Given the description of an element on the screen output the (x, y) to click on. 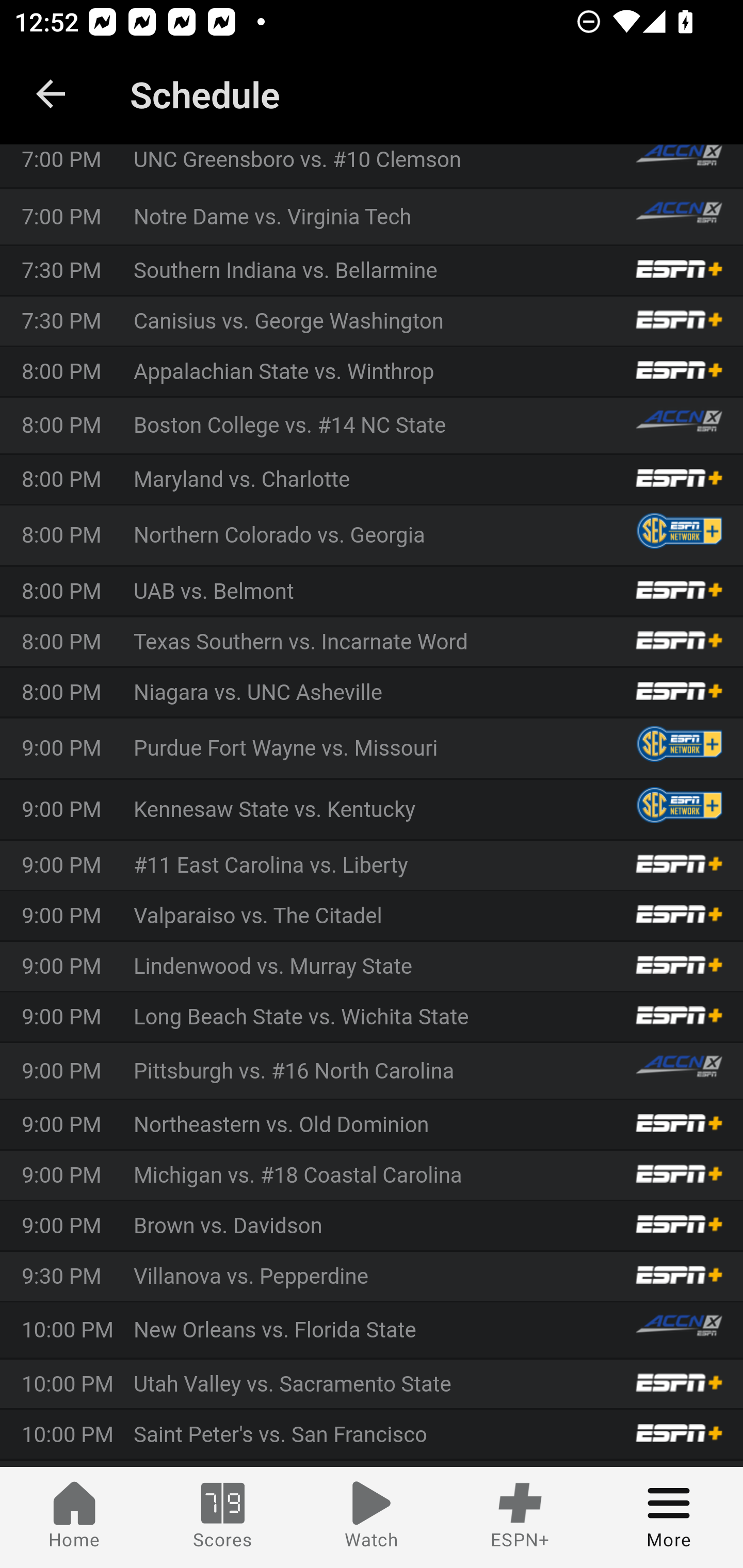
back.button (50, 93)
Home (74, 1517)
Scores (222, 1517)
Watch (371, 1517)
ESPN+ (519, 1517)
